Given the description of an element on the screen output the (x, y) to click on. 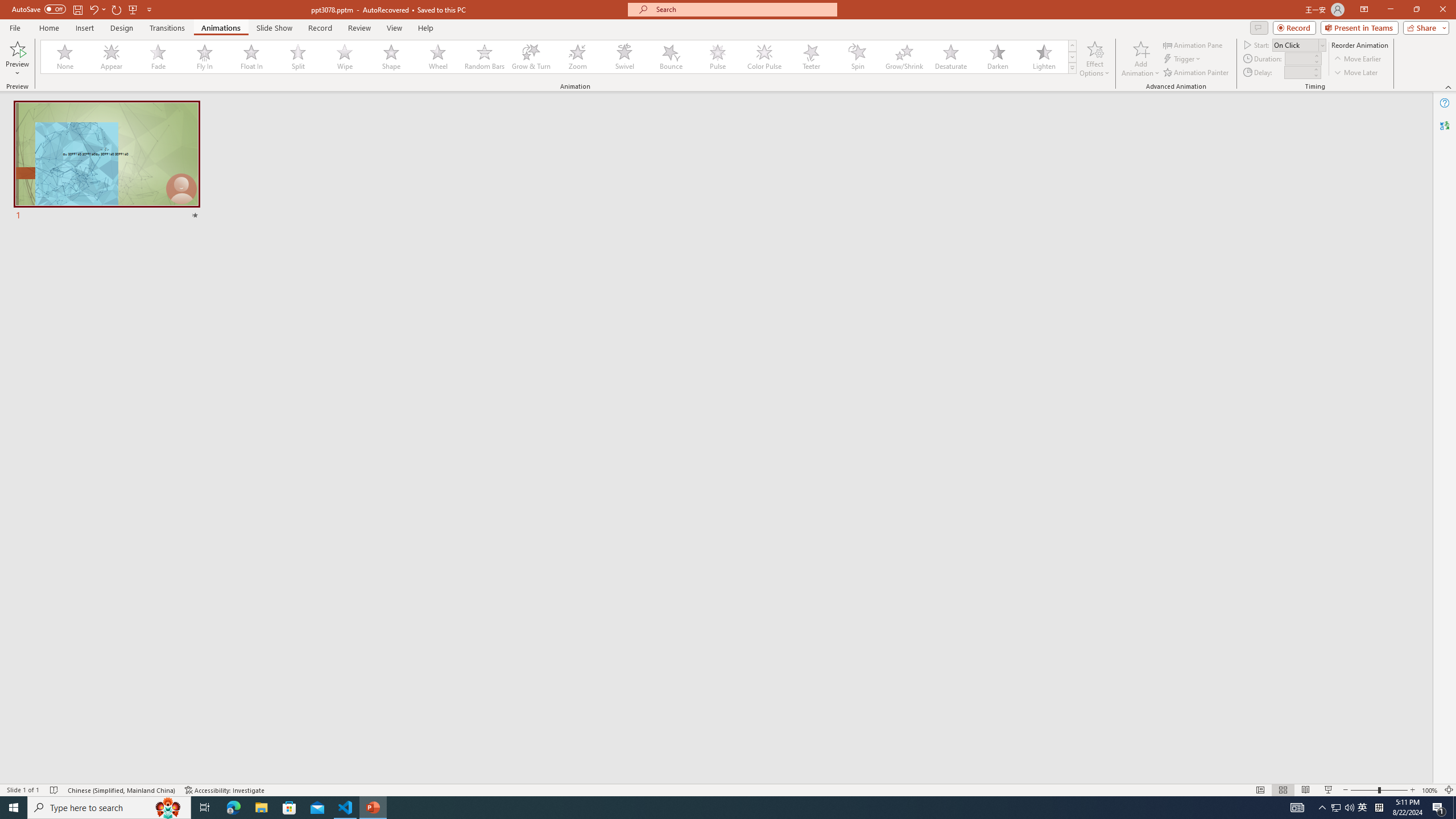
Add Animation (1141, 58)
Animation Styles (1071, 67)
Animation Duration (1298, 58)
Lighten (1043, 56)
Spin (857, 56)
Move Later (1355, 72)
Pulse (717, 56)
